Given the description of an element on the screen output the (x, y) to click on. 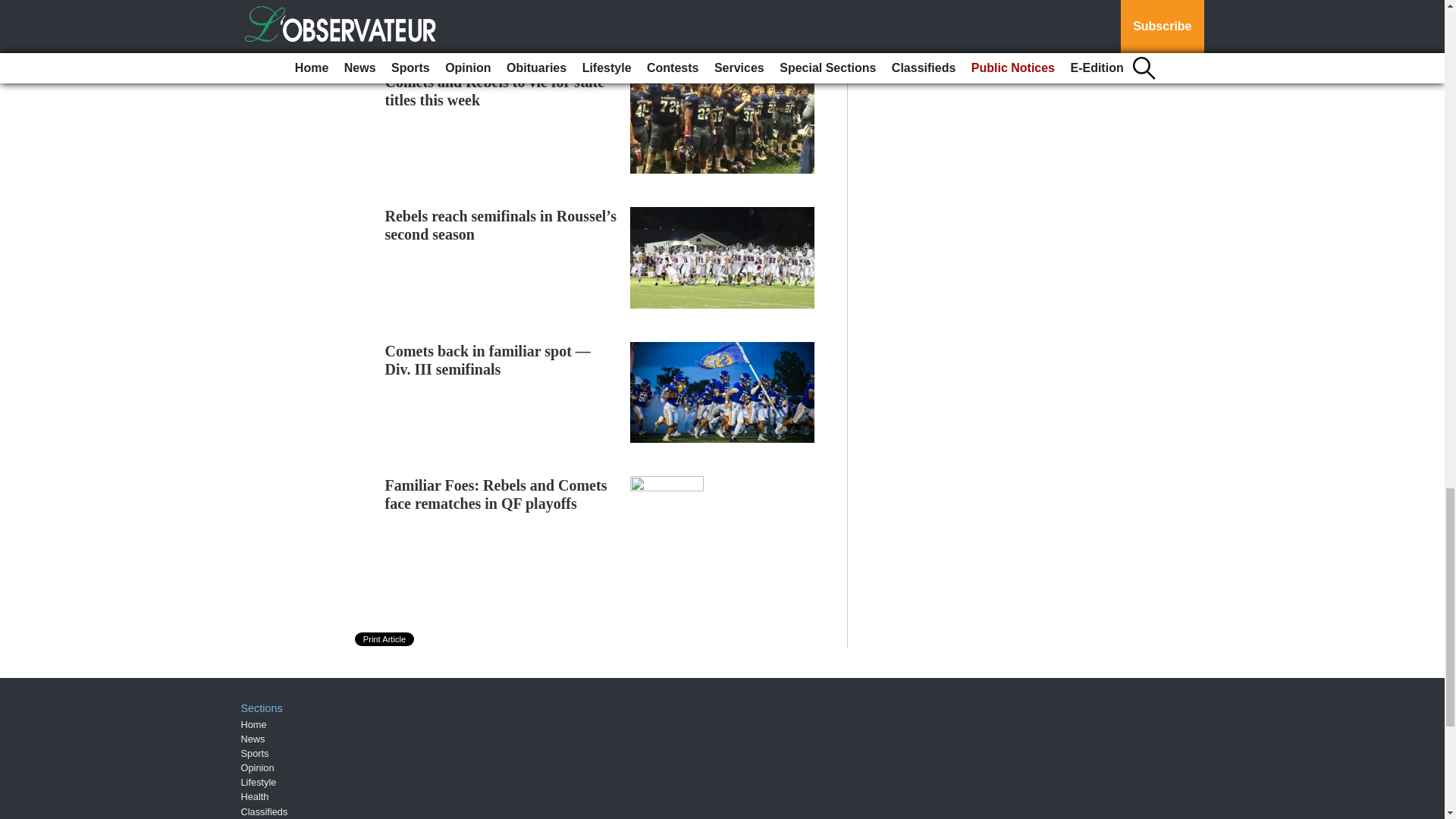
Comets and Rebels to vie for state titles this week (495, 90)
Print Article (384, 639)
Comets and Rebels to vie for state titles this week (495, 90)
